Given the description of an element on the screen output the (x, y) to click on. 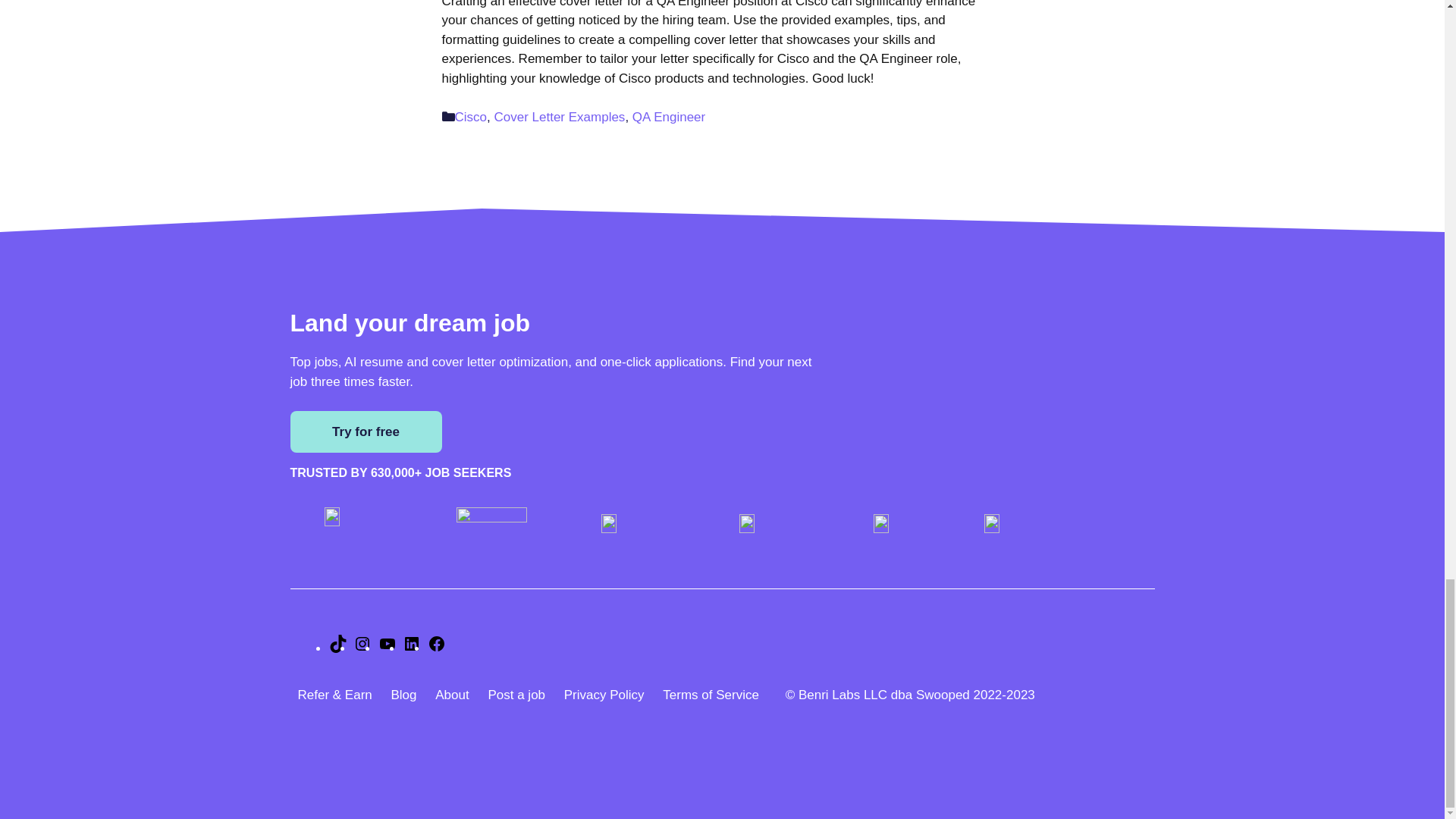
YouTube (386, 648)
Post a job (515, 702)
Terms of Service (721, 702)
QA Engineer (667, 116)
Instagram (362, 648)
Facebook (436, 648)
Blog (403, 702)
TikTok (338, 648)
Try for free (365, 432)
Cover Letter Examples (558, 116)
About (451, 702)
Cisco (470, 116)
Privacy Policy (604, 702)
LinkedIn (411, 648)
